Given the description of an element on the screen output the (x, y) to click on. 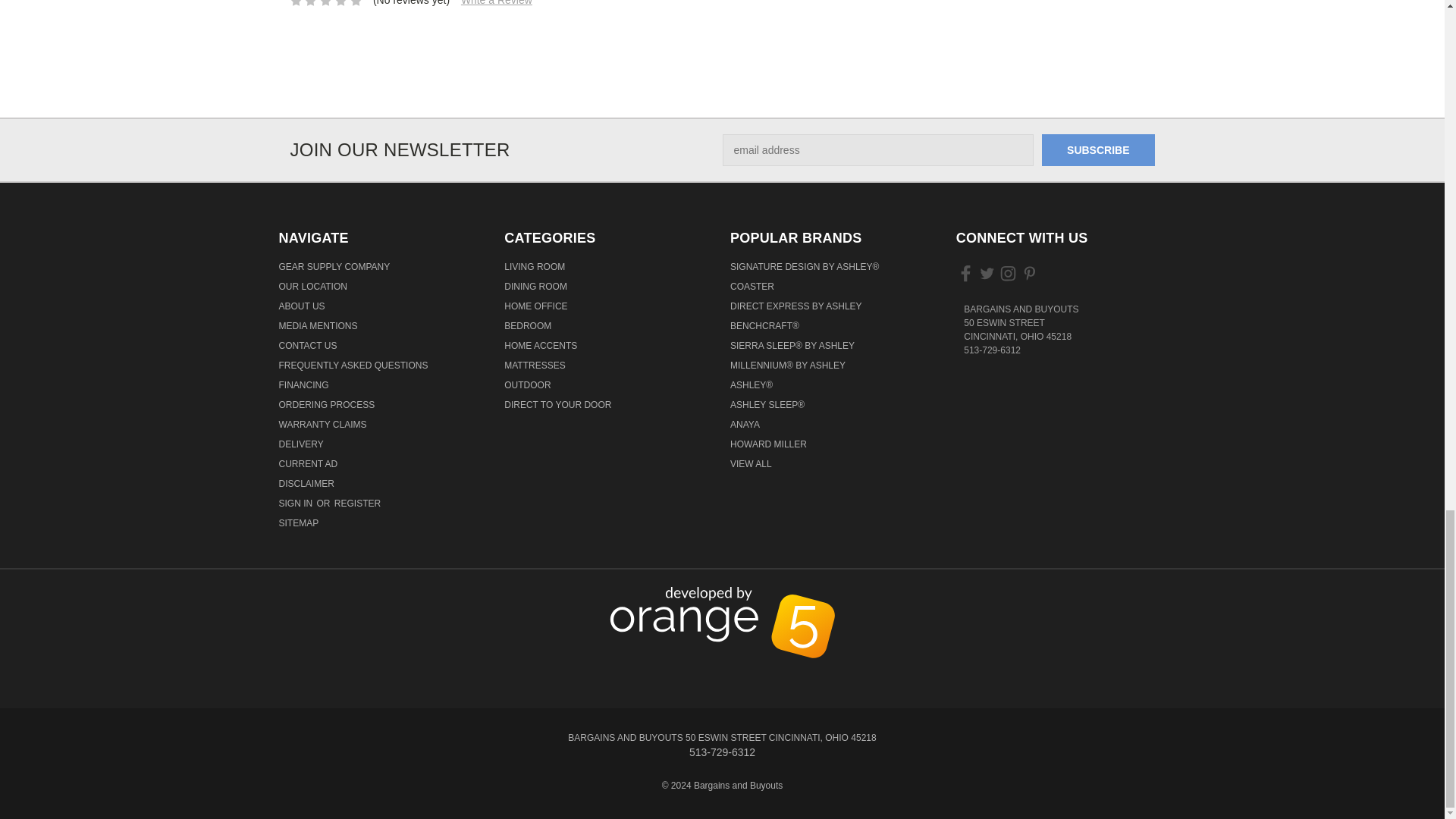
Subscribe (1098, 150)
